Given the description of an element on the screen output the (x, y) to click on. 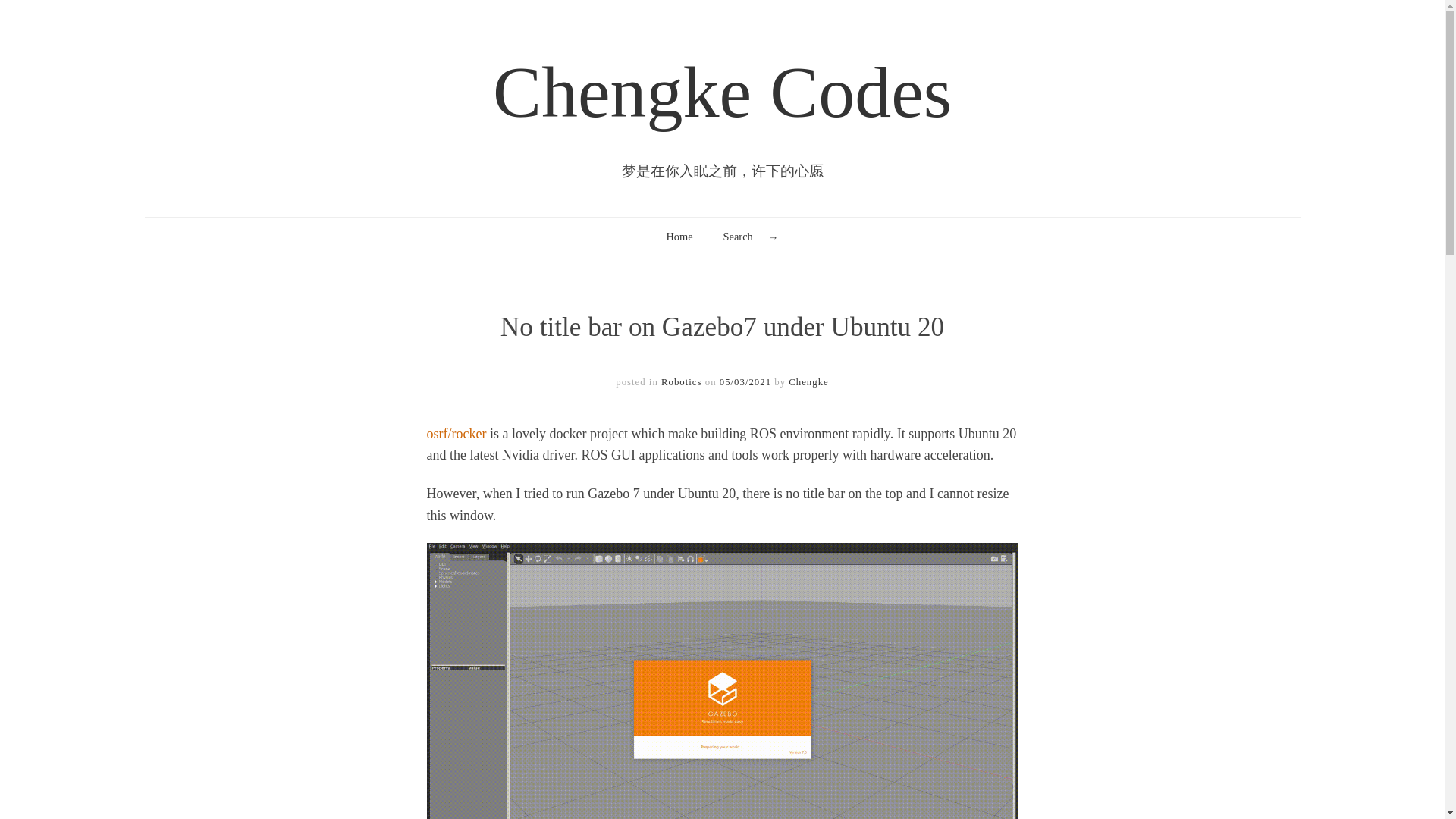
View all posts by Chengke (808, 382)
Chengke (808, 382)
Robotics (681, 382)
Chengke Codes (722, 92)
Search (37, 14)
Home (679, 236)
Enter keyword (750, 237)
02:13 (746, 382)
